Given the description of an element on the screen output the (x, y) to click on. 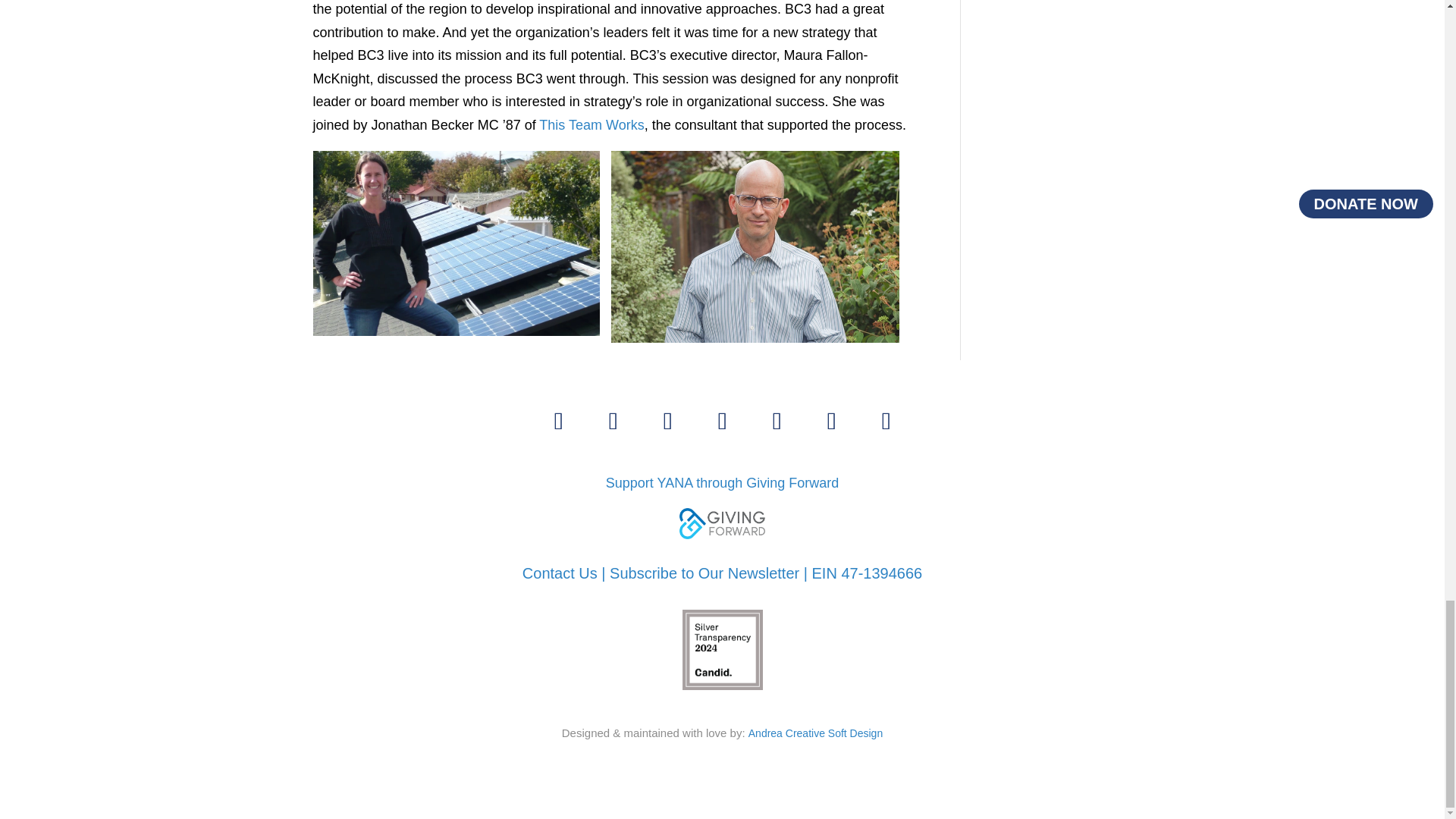
Follow on Facebook (667, 420)
Follow on LinkedIn (558, 420)
Follow on Instagram (885, 420)
candid-seal-silver-2024 (722, 649)
Follow on X (612, 420)
Follow on Youtube (721, 420)
Follow on RSS (776, 420)
Follow on Buffer (831, 420)
